Given the description of an element on the screen output the (x, y) to click on. 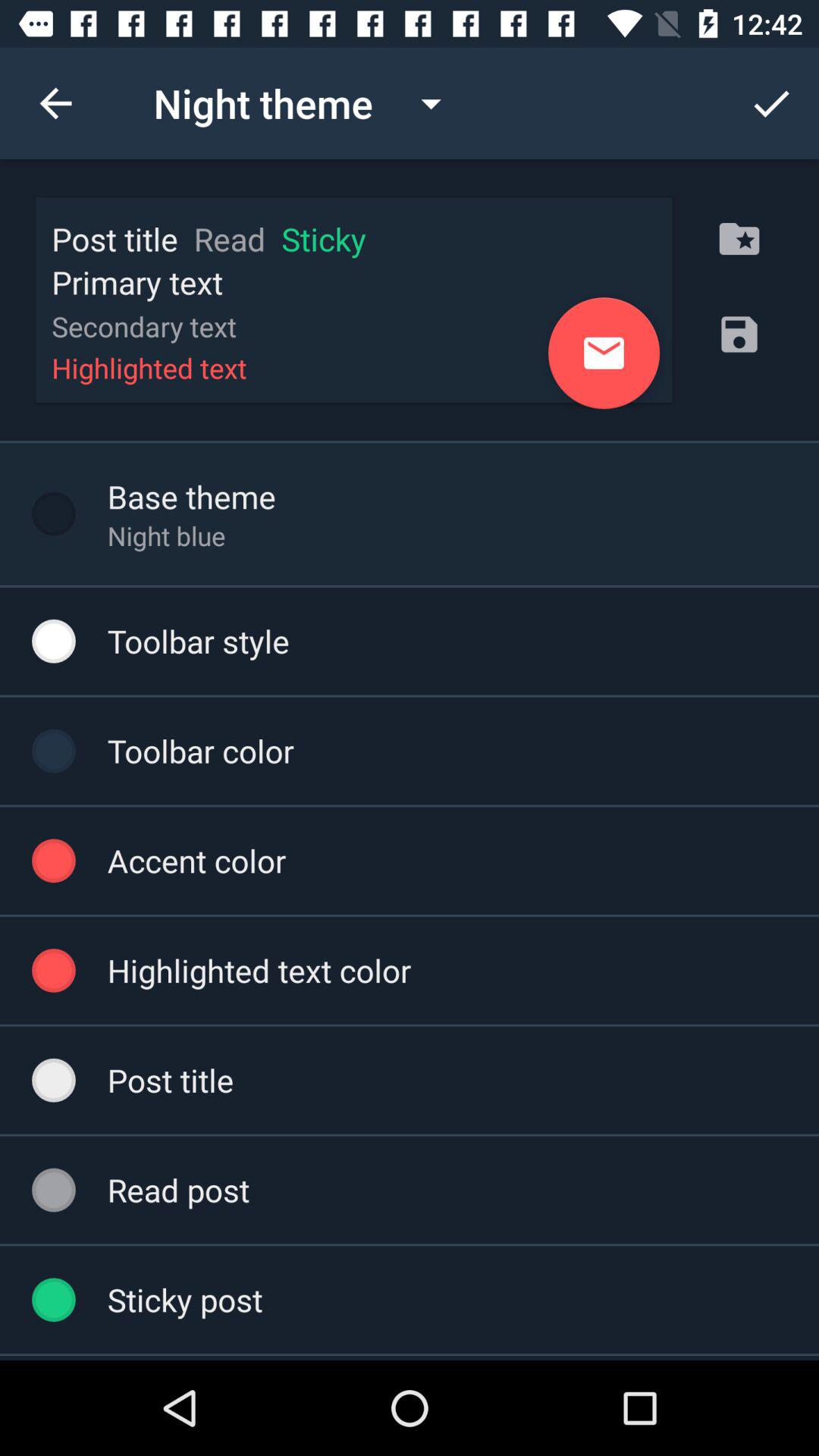
click on the drop down at top left of the page (311, 103)
click the right side important folderoption (739, 238)
select the button at top right corner of the page (771, 103)
